Given the description of an element on the screen output the (x, y) to click on. 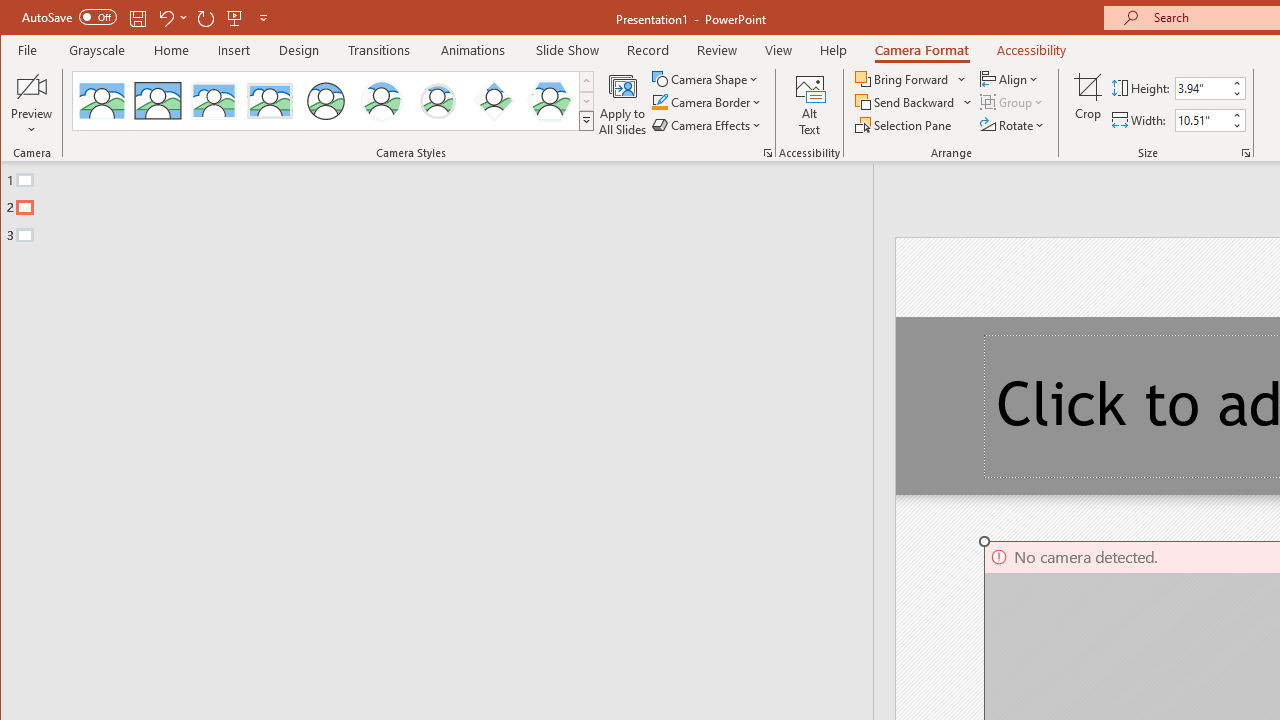
Outline (445, 203)
Alt Text (809, 104)
Enable Camera Preview (31, 86)
Camera Styles (585, 120)
